Given the description of an element on the screen output the (x, y) to click on. 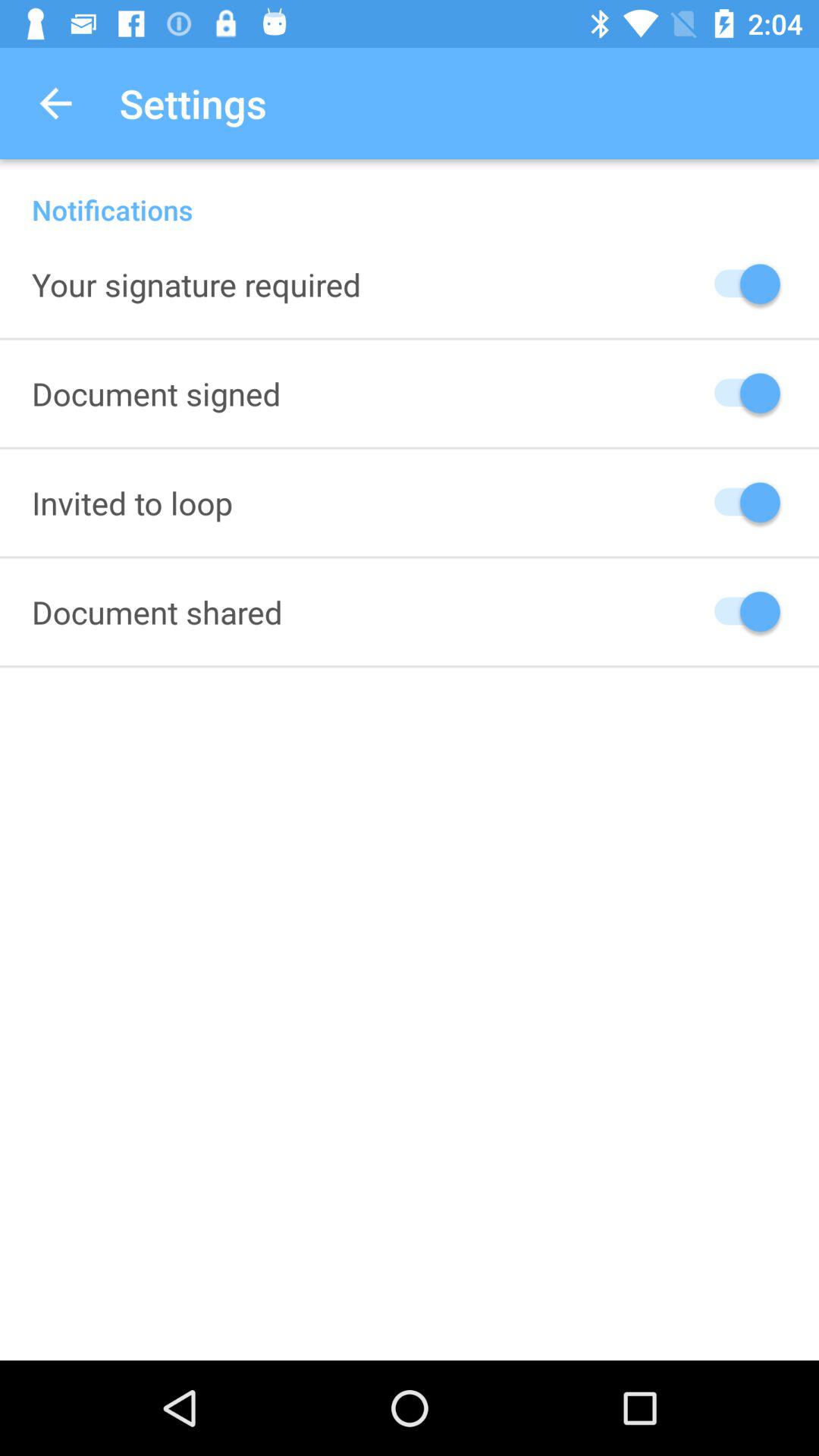
click icon above document shared item (131, 502)
